Given the description of an element on the screen output the (x, y) to click on. 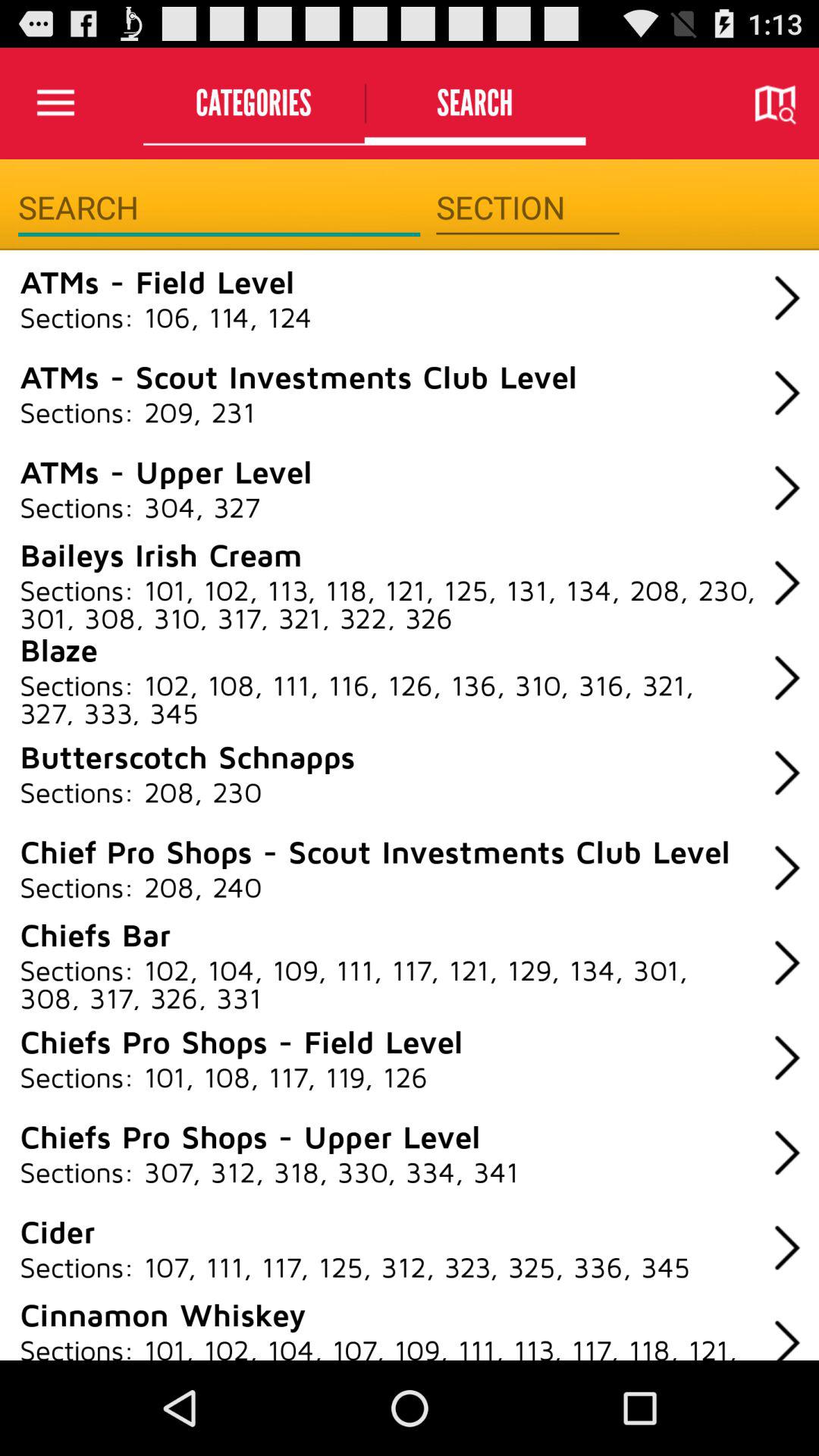
jump to the cinnamon whiskey item (162, 1314)
